Given the description of an element on the screen output the (x, y) to click on. 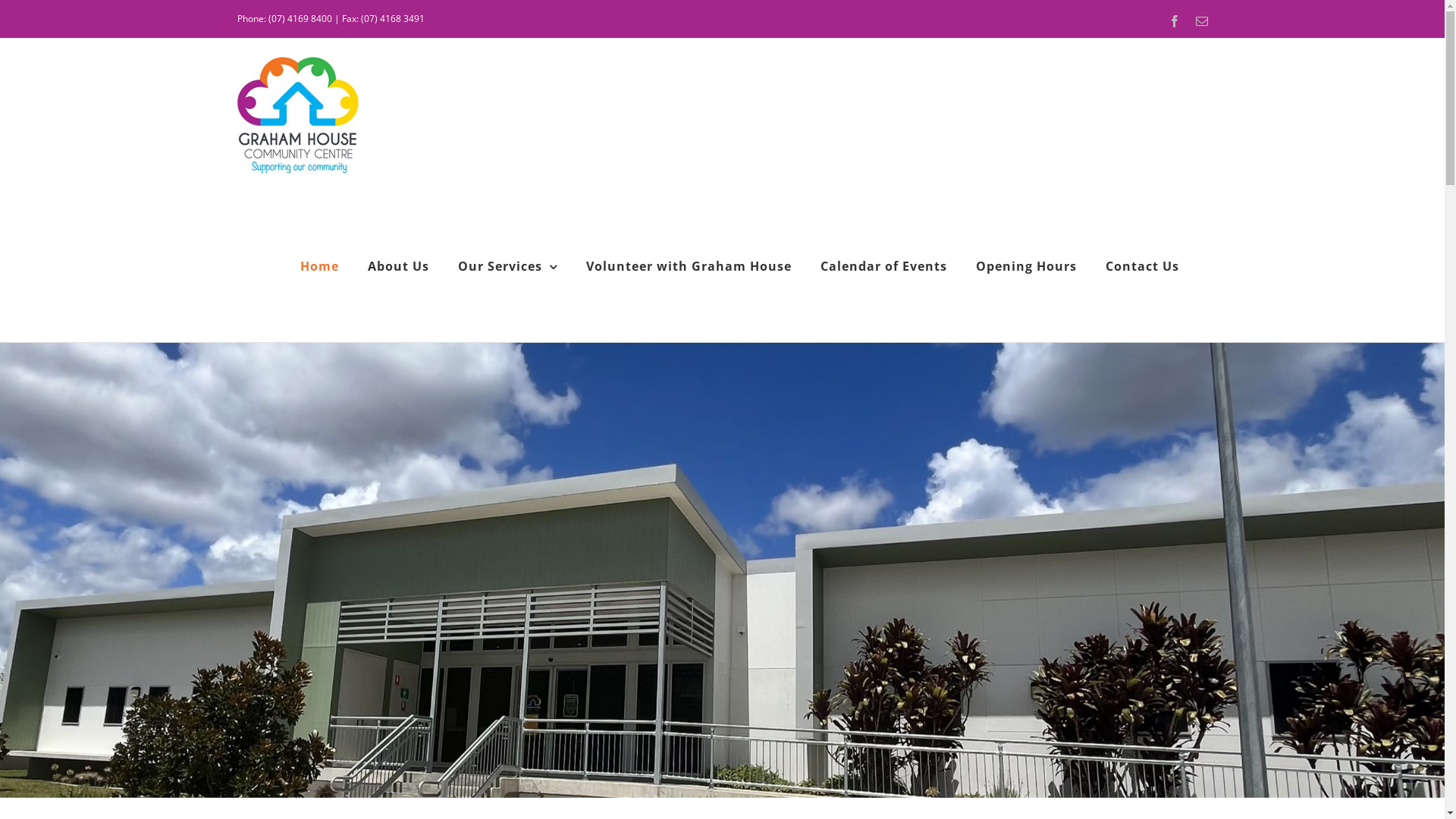
About Us Element type: text (397, 266)
Opening Hours Element type: text (1025, 266)
Calendar of Events Element type: text (883, 266)
Home Element type: text (319, 266)
Facebook Element type: text (1173, 21)
Contact Us Element type: text (1142, 266)
Email Element type: text (1201, 21)
Our Services Element type: text (507, 266)
Volunteer with Graham House Element type: text (687, 266)
